Given the description of an element on the screen output the (x, y) to click on. 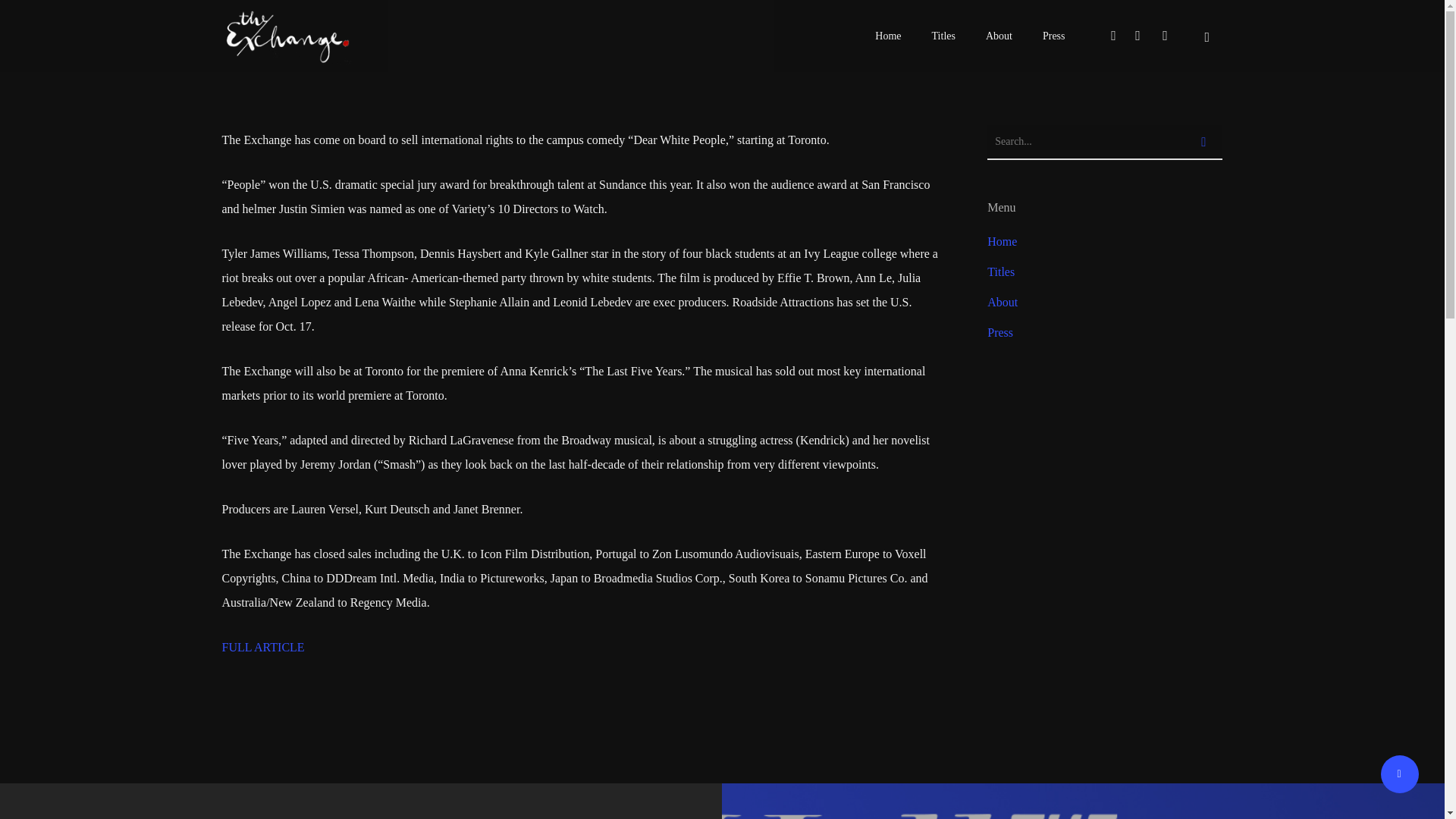
Press (1053, 35)
Press (1105, 332)
Titles (943, 35)
About (998, 35)
FULL ARTICLE (262, 646)
Search for: (1105, 142)
Home (1105, 241)
Home (888, 35)
About (1105, 302)
Titles (1105, 272)
